Given the description of an element on the screen output the (x, y) to click on. 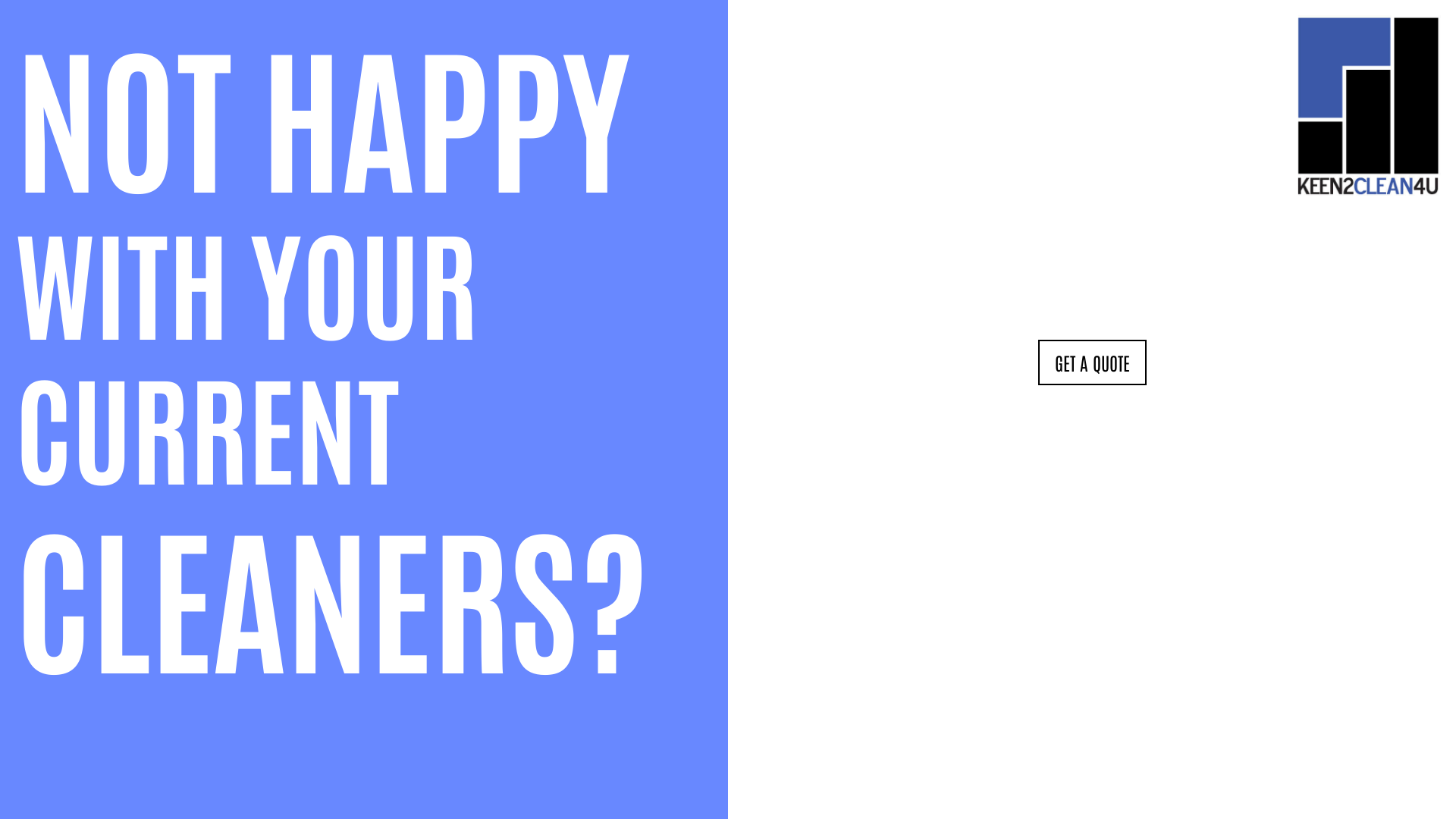
GET A QUOTE Element type: text (1091, 362)
